Given the description of an element on the screen output the (x, y) to click on. 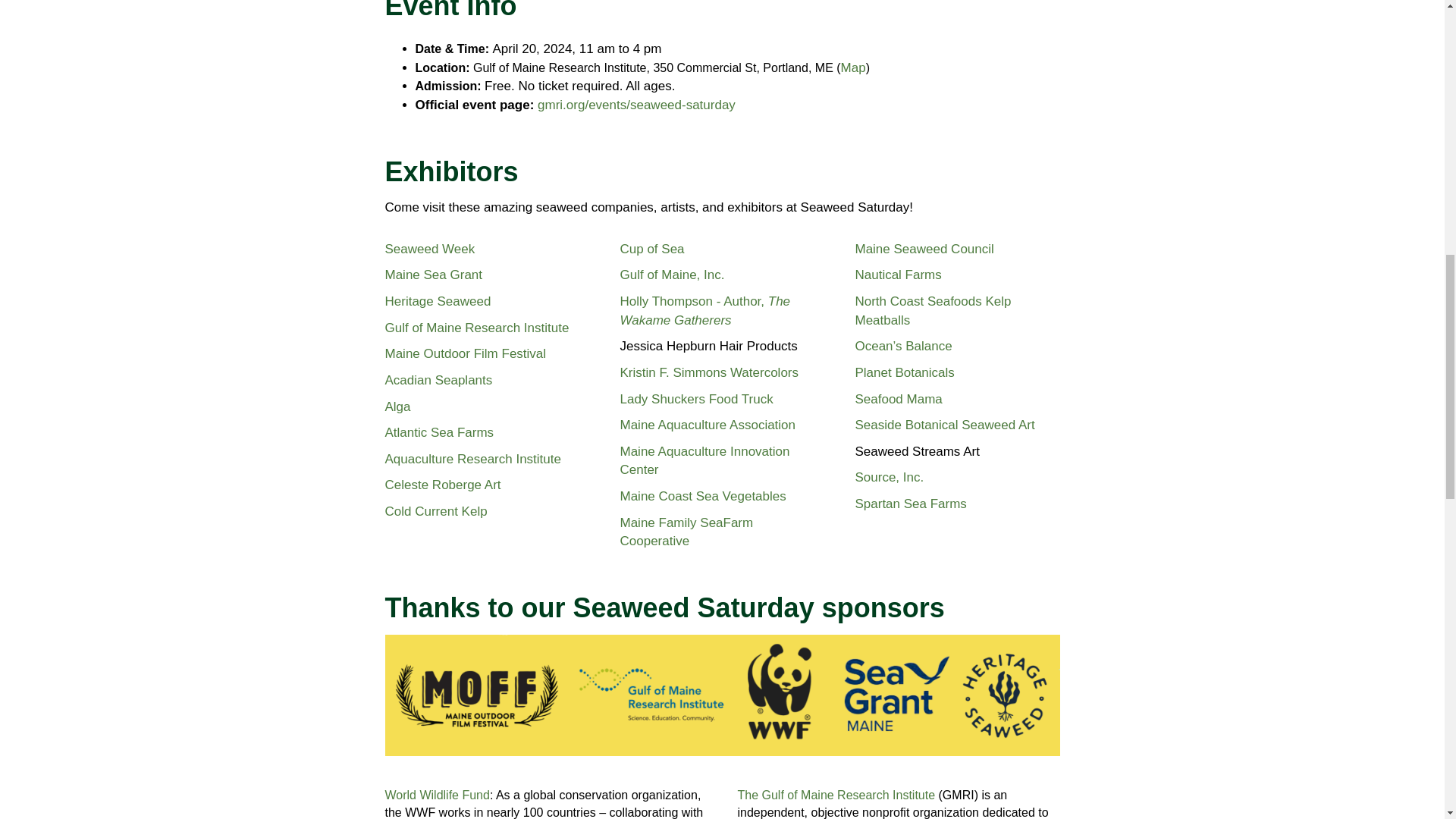
Planet Botanicals (903, 372)
Acadian Seaplants (439, 380)
Seaweed Saturday Sponsors (722, 694)
Maine Outdoor Film Festival (466, 353)
Maine Sea Grant (434, 274)
Aquaculture Research Institute (472, 459)
Cold Current Kelp (436, 511)
Kristin F. Simmons Watercolors (708, 372)
Holly Thompson - Author, The Wakame Gatherers (705, 310)
North Coast Seafoods Kelp Meatballs (932, 310)
